Given the description of an element on the screen output the (x, y) to click on. 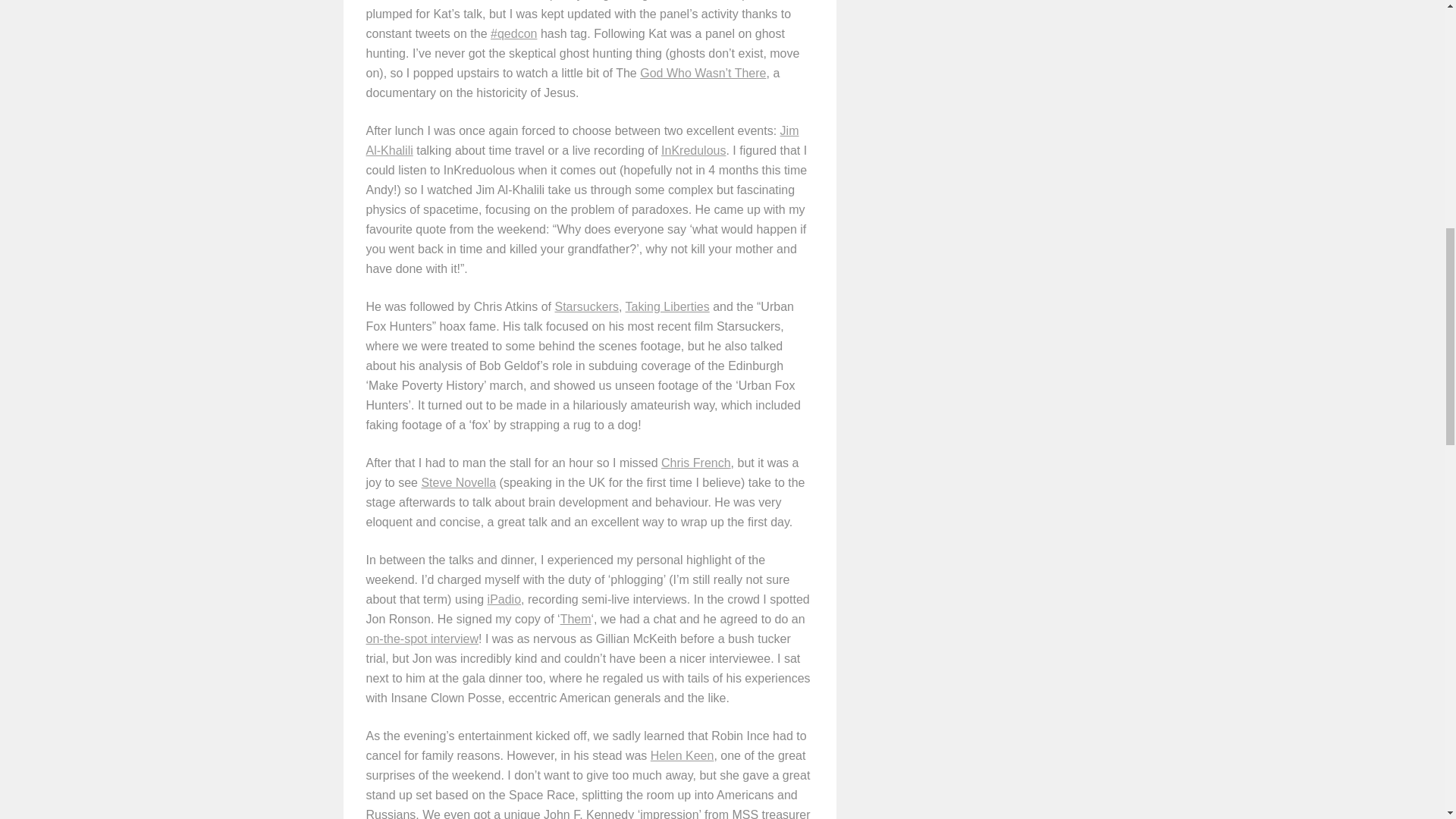
Taking Liberties (668, 306)
Helen Keen (682, 755)
iPadio (504, 599)
The God who wasn't there (702, 72)
Steve Novella (458, 481)
on-the-spot interview (422, 638)
Jim Al-Khalili (581, 140)
Chris French (695, 462)
Jim Al-Khalili (581, 140)
InKredulous (693, 150)
Them (575, 618)
Starsuckers (586, 306)
